Given the description of an element on the screen output the (x, y) to click on. 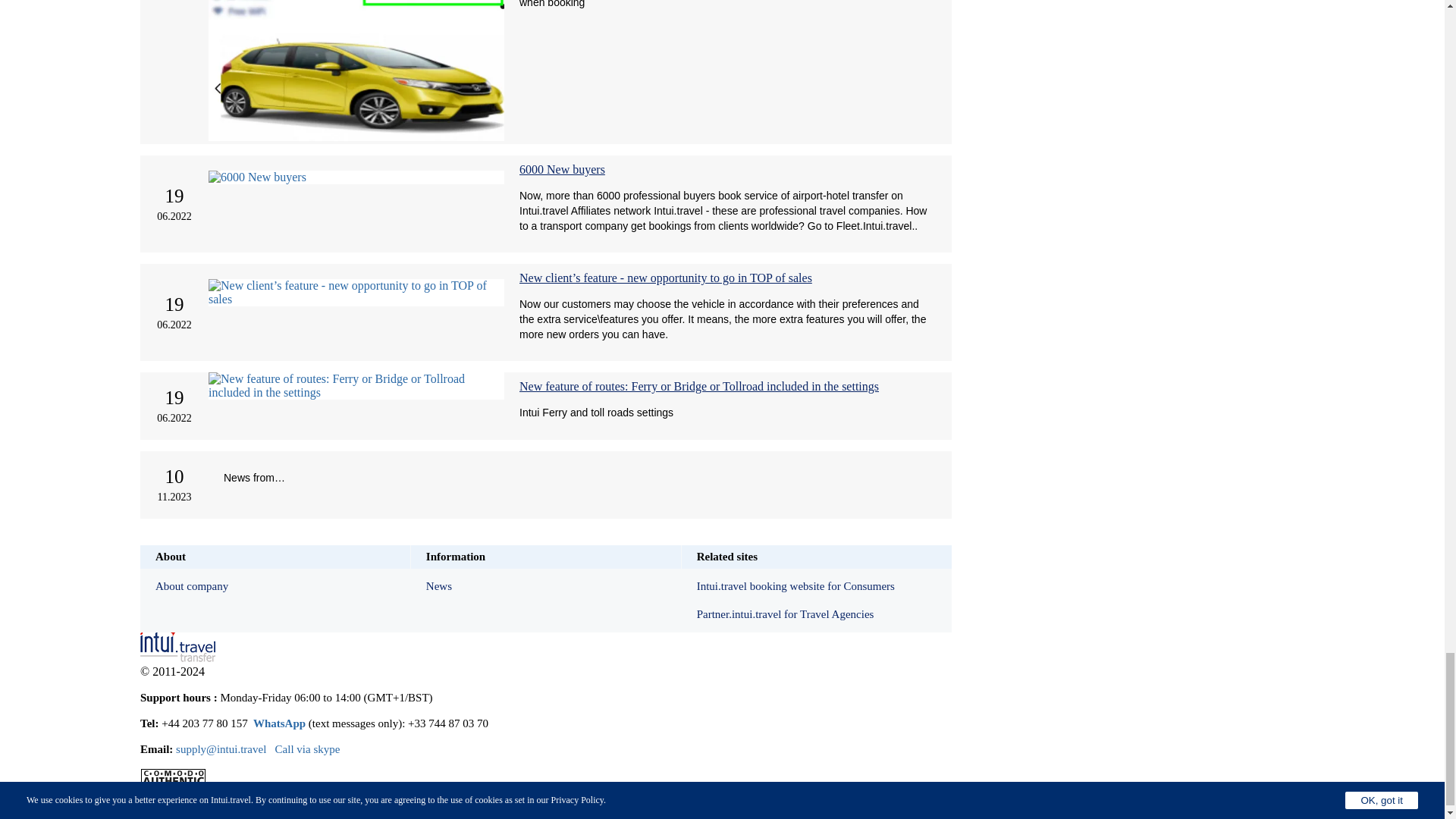
6000 New buyers (562, 169)
About company (274, 586)
